Given the description of an element on the screen output the (x, y) to click on. 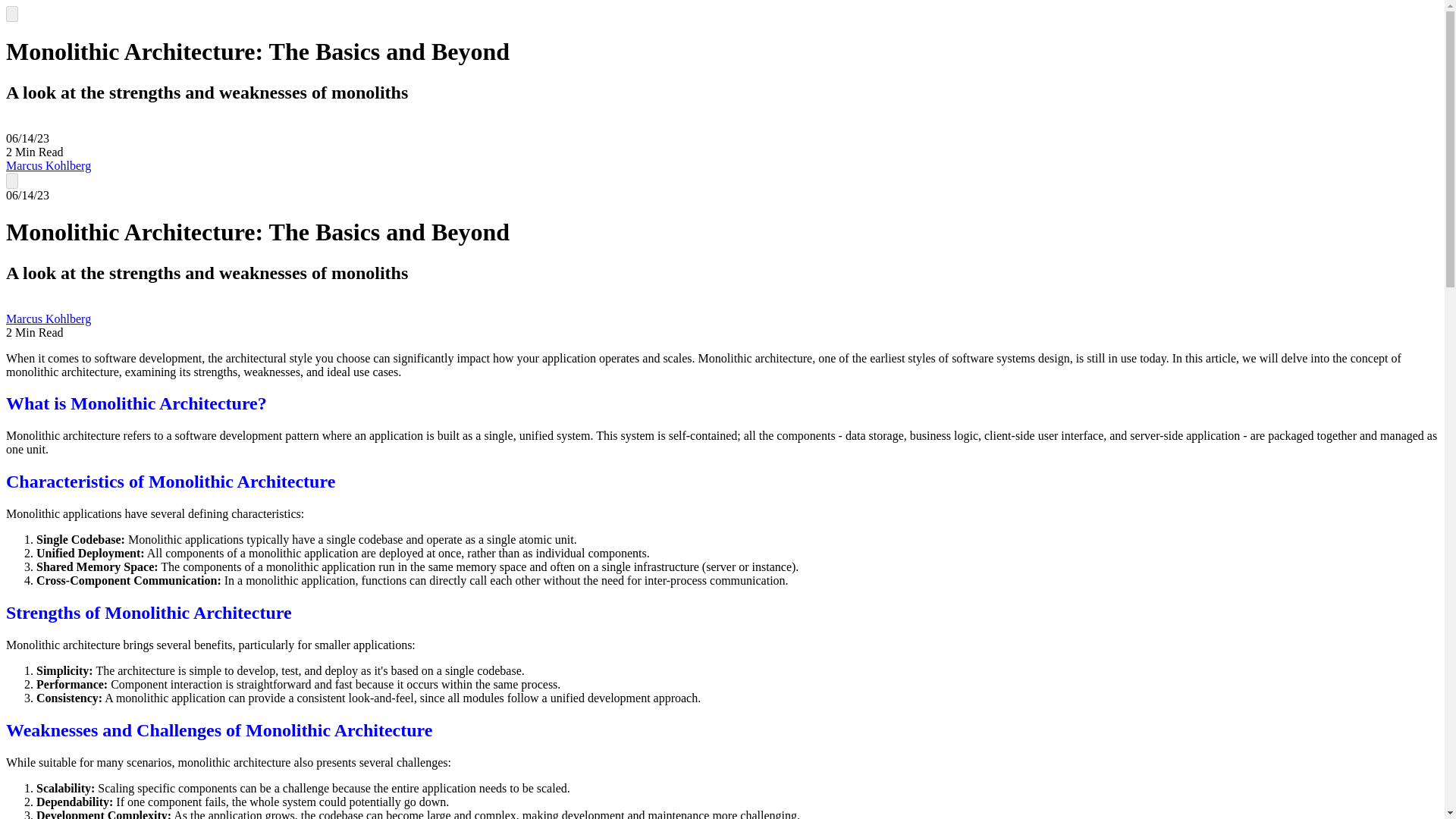
Weaknesses and Challenges of Monolithic Architecture (218, 730)
Marcus Kohlberg (47, 318)
What is Monolithic Architecture? (135, 403)
Marcus Kohlberg (47, 164)
Strengths of Monolithic Architecture (148, 612)
Characteristics of Monolithic Architecture (169, 481)
